Given the description of an element on the screen output the (x, y) to click on. 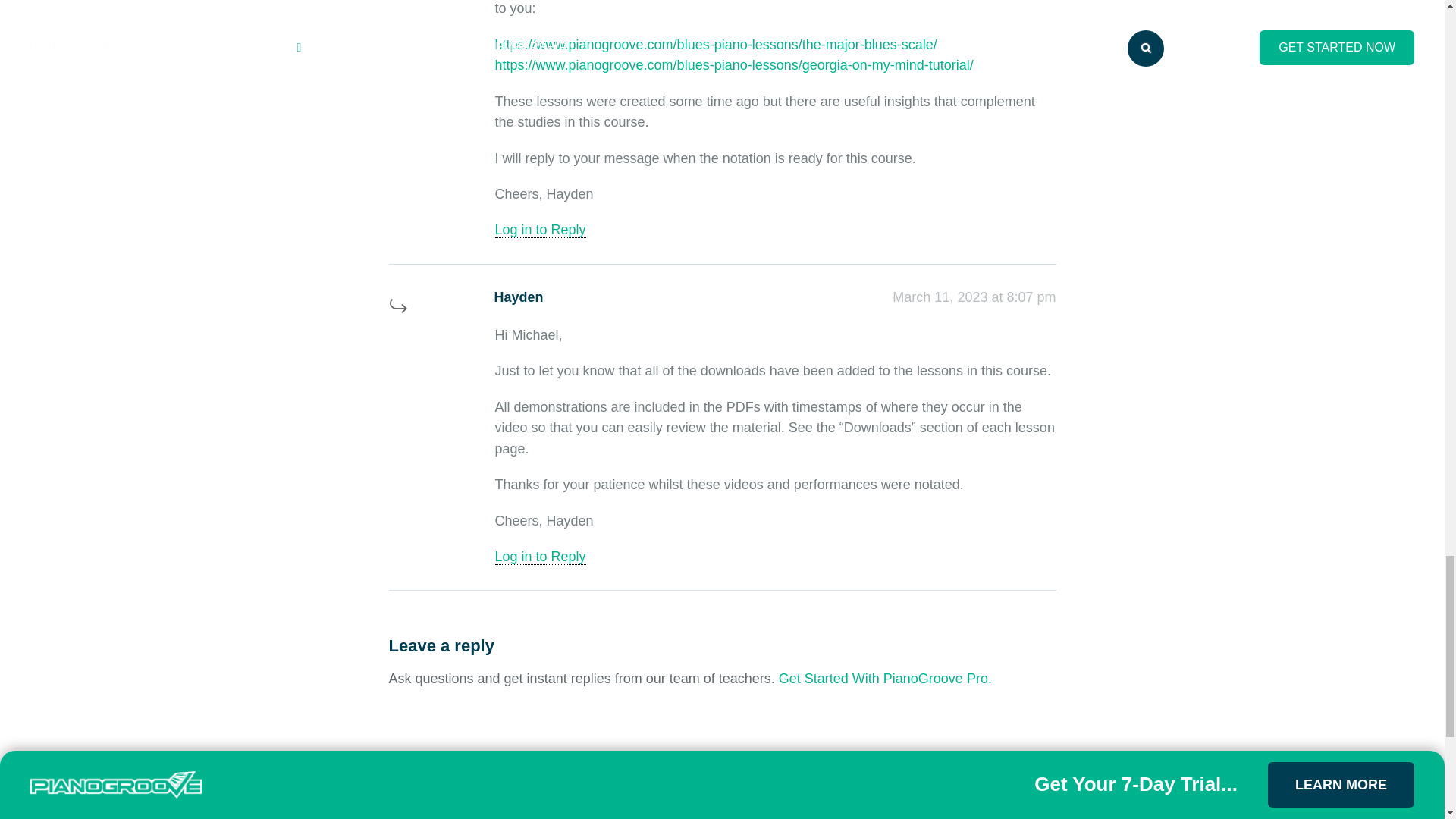
Log in to Reply (540, 556)
Log in to Reply (540, 229)
March 11, 2023 at 8:07 pm (973, 296)
